Given the description of an element on the screen output the (x, y) to click on. 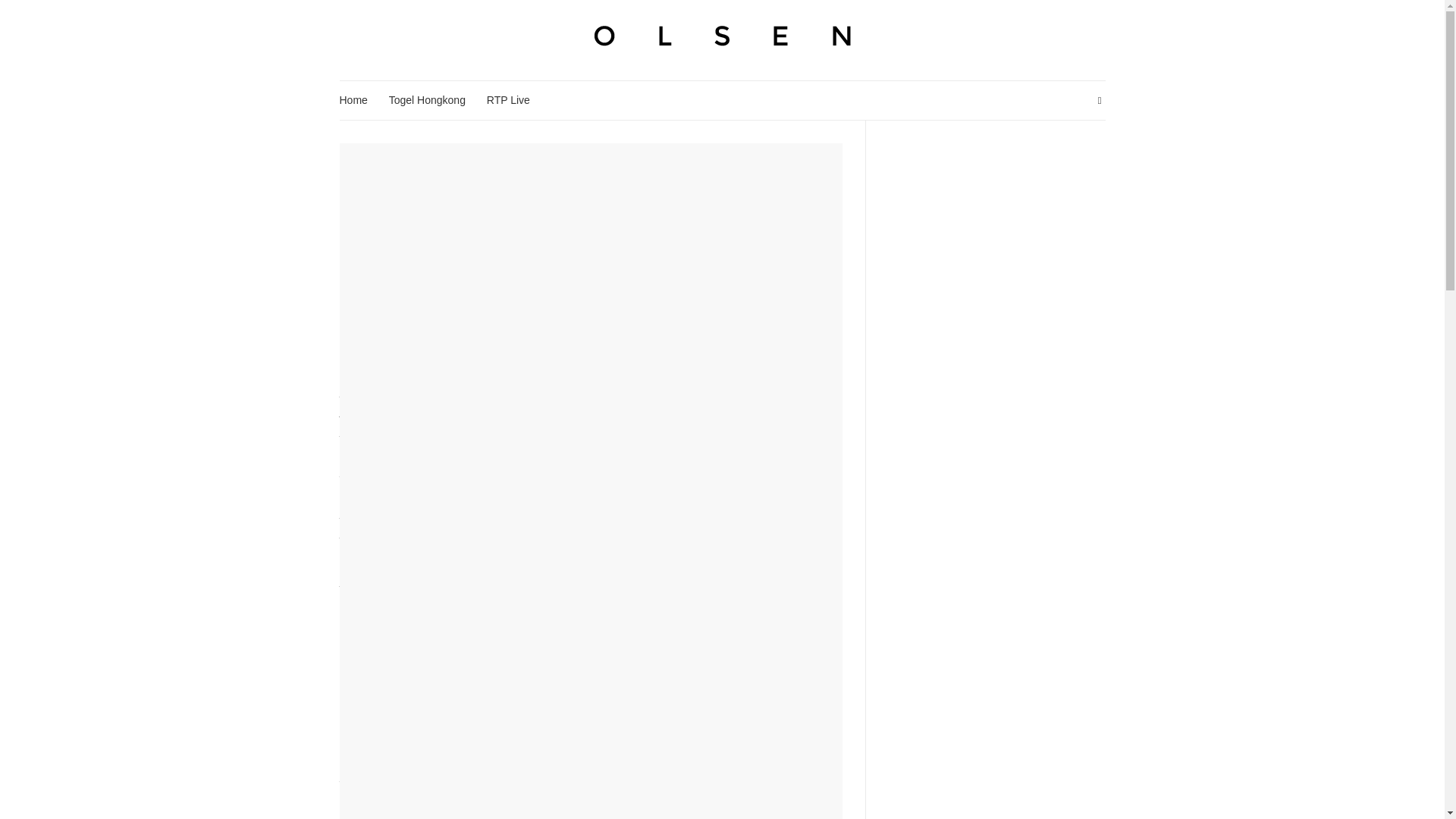
No Comments (642, 205)
Home (353, 99)
Gambling (590, 151)
Togel Hongkong (426, 99)
RTP Live (507, 99)
